Given the description of an element on the screen output the (x, y) to click on. 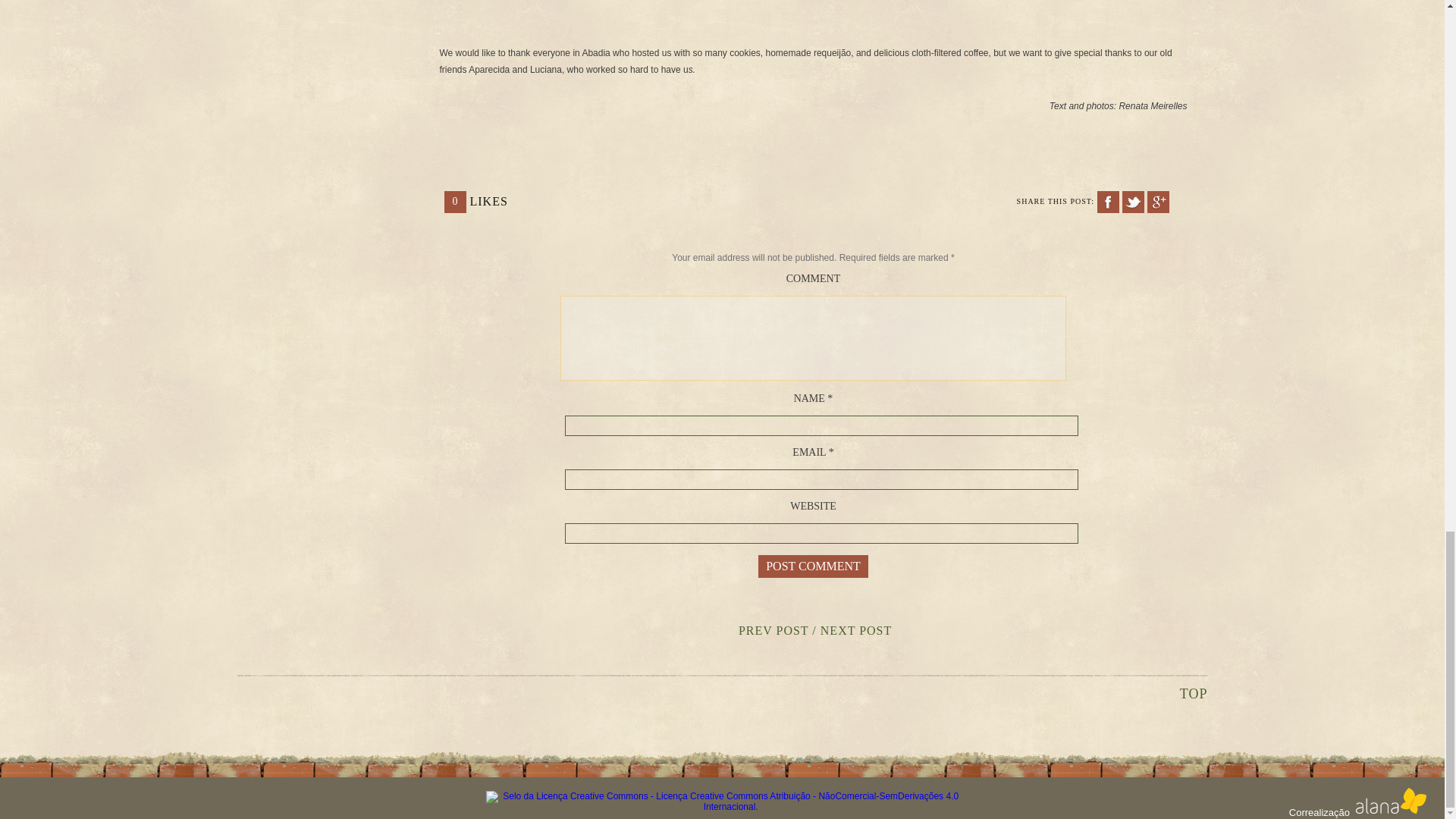
Twitter (1133, 201)
Post Comment (812, 566)
Post Comment (812, 566)
Facebook (1107, 201)
I like this article (454, 201)
